Given the description of an element on the screen output the (x, y) to click on. 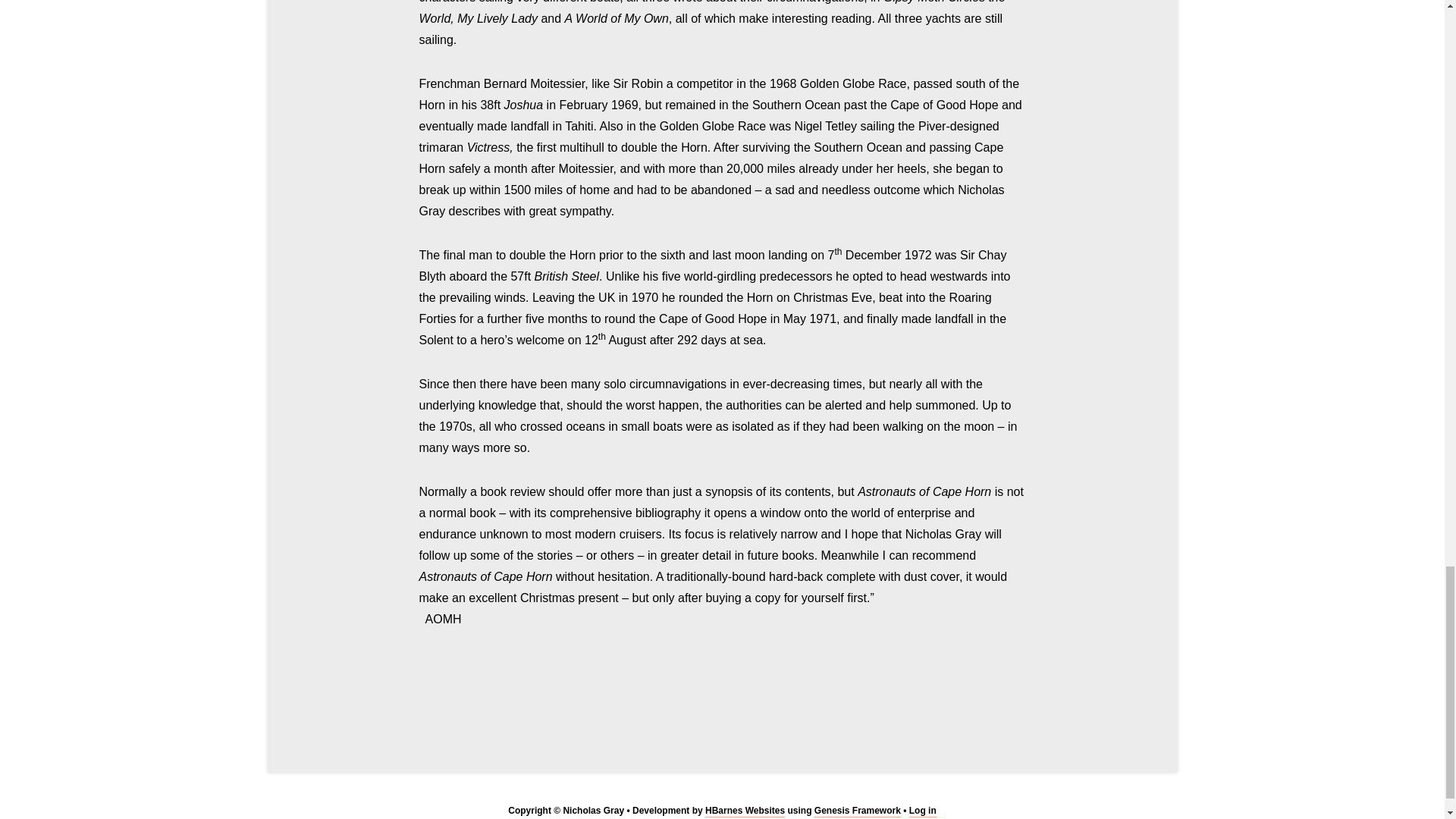
HBarnes Websites (744, 811)
Log in (922, 811)
Genesis Framework (857, 811)
